Given the description of an element on the screen output the (x, y) to click on. 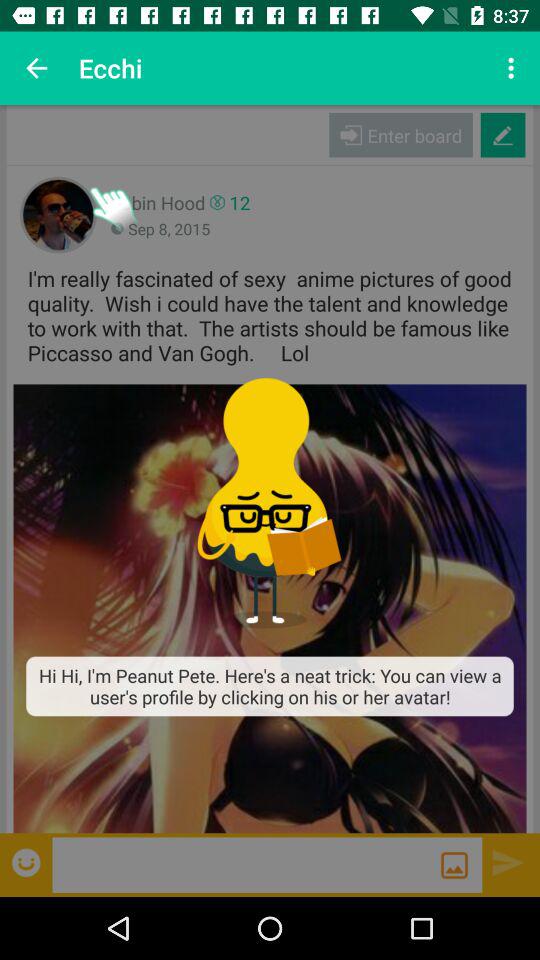
open emojis (28, 862)
